Given the description of an element on the screen output the (x, y) to click on. 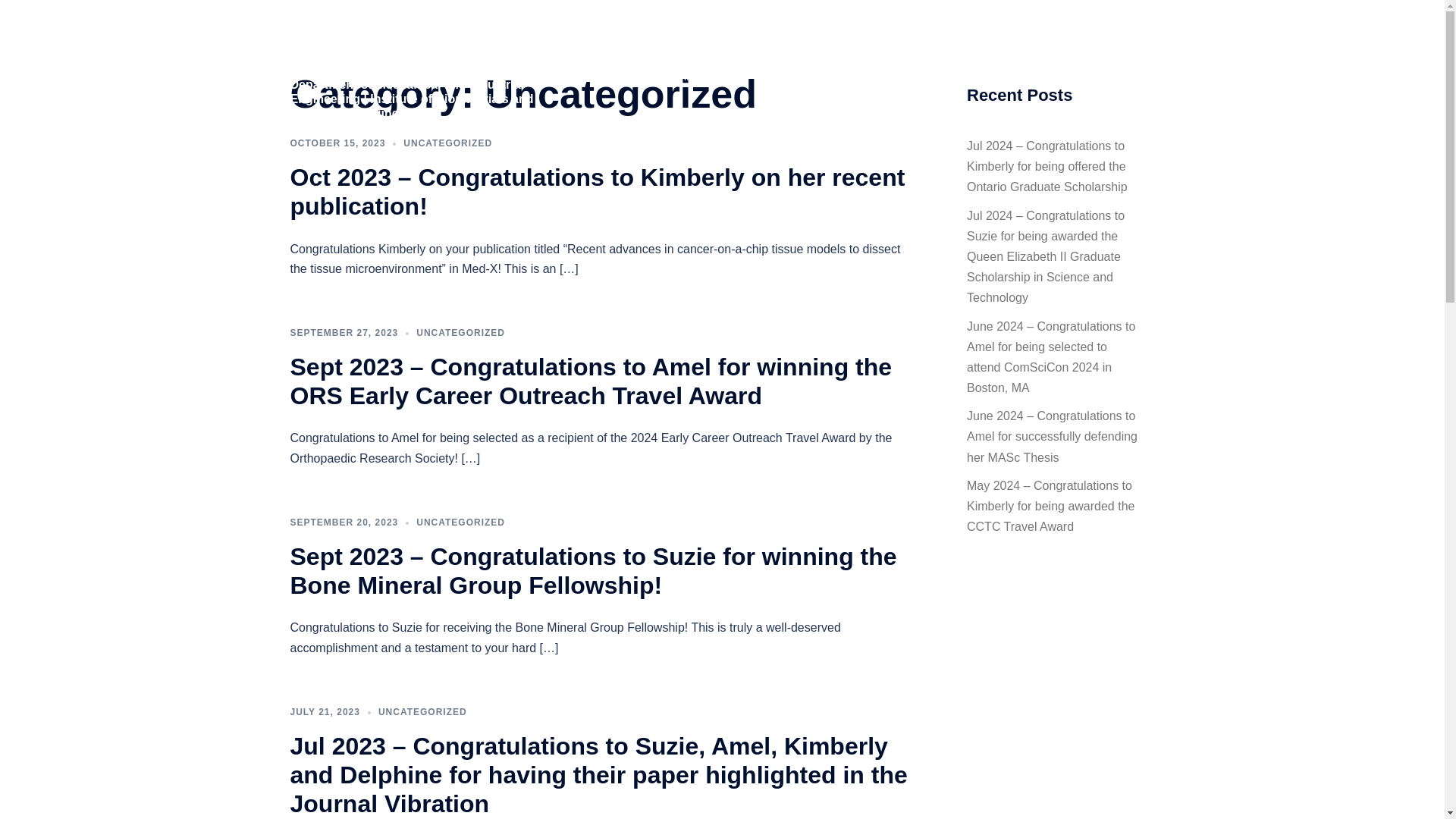
UNCATEGORIZED (460, 332)
Cellular Biomechanics Laboratory (419, 43)
Links (1079, 58)
UNCATEGORIZED (447, 143)
Home (609, 58)
SEPTEMBER 27, 2023 (343, 332)
CBL Intranet (683, 76)
UNCATEGORIZED (460, 521)
SEPTEMBER 20, 2023 (343, 521)
Contact (613, 76)
Research (833, 58)
Facilities (768, 58)
News (659, 58)
Publications (905, 58)
OCTOBER 15, 2023 (337, 143)
